Given the description of an element on the screen output the (x, y) to click on. 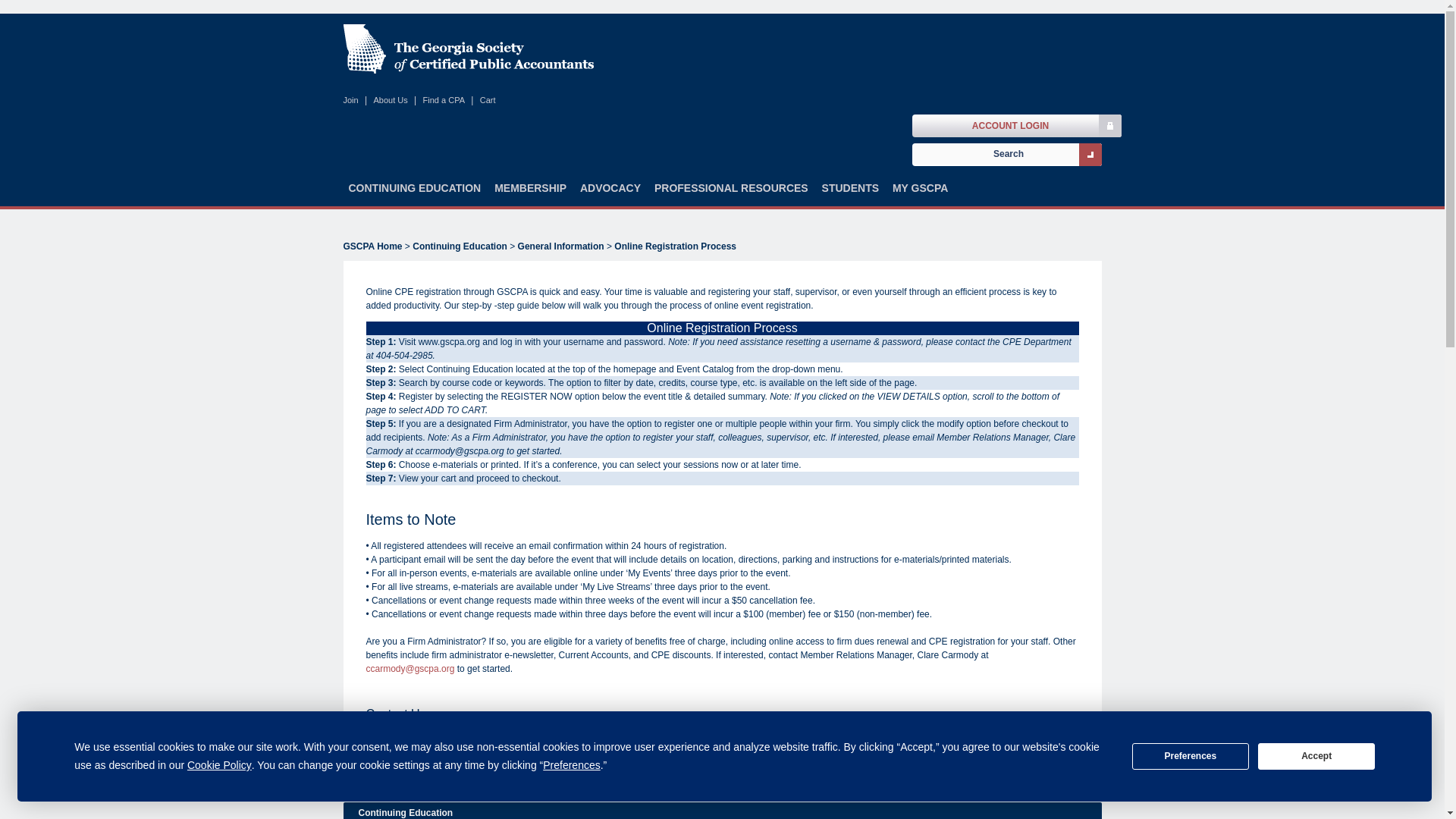
ACCOUNT LOGIN (1010, 125)
Continuing Education (414, 194)
Join (350, 99)
MEMBERSHIP (530, 194)
Preferences (571, 764)
Cart (488, 99)
About Us (389, 99)
Membership (530, 194)
Find a CPA (443, 99)
Cookie Policy (219, 764)
CONTINUING EDUCATION (414, 194)
Accept (1315, 755)
Preferences (1190, 755)
